Given the description of an element on the screen output the (x, y) to click on. 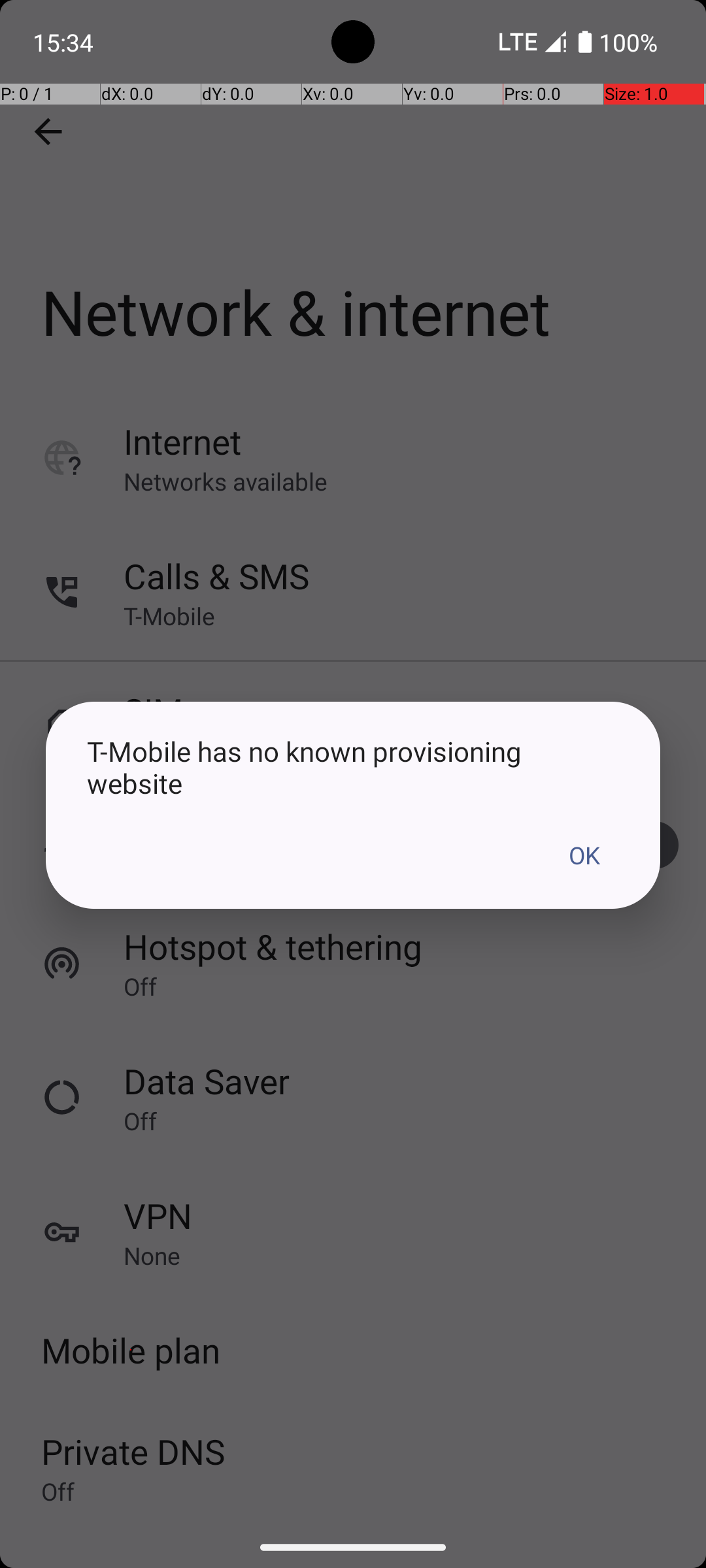
T-Mobile has no known provisioning website Element type: android.widget.TextView (352, 766)
